Given the description of an element on the screen output the (x, y) to click on. 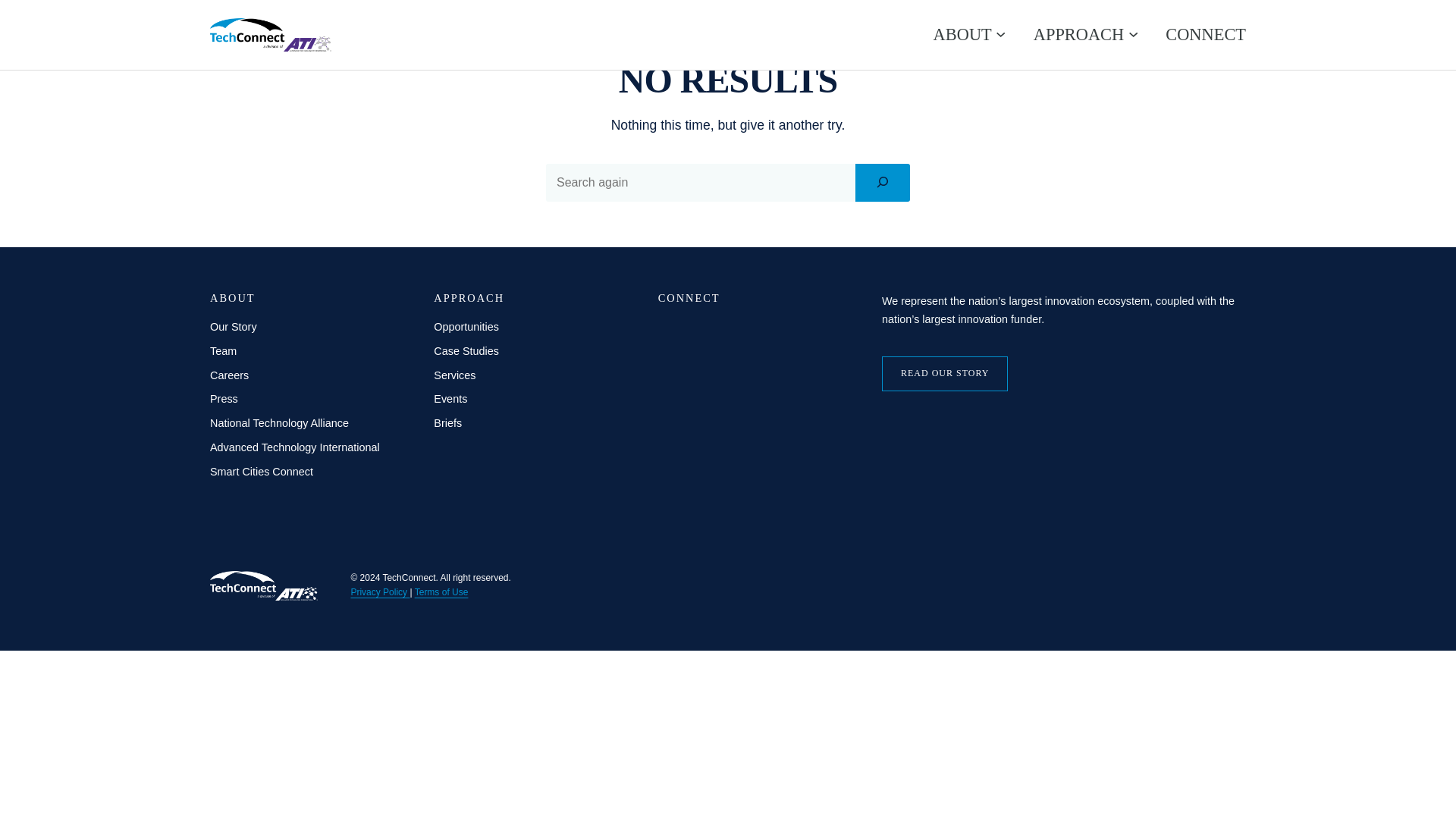
Case Studies (466, 350)
APPROACH (1078, 33)
ABOUT (232, 297)
Press (223, 398)
ABOUT (962, 33)
Our Story (233, 326)
Advanced Technology International (294, 447)
National Technology Alliance (279, 422)
Privacy Policy (379, 592)
Services (454, 375)
